Given the description of an element on the screen output the (x, y) to click on. 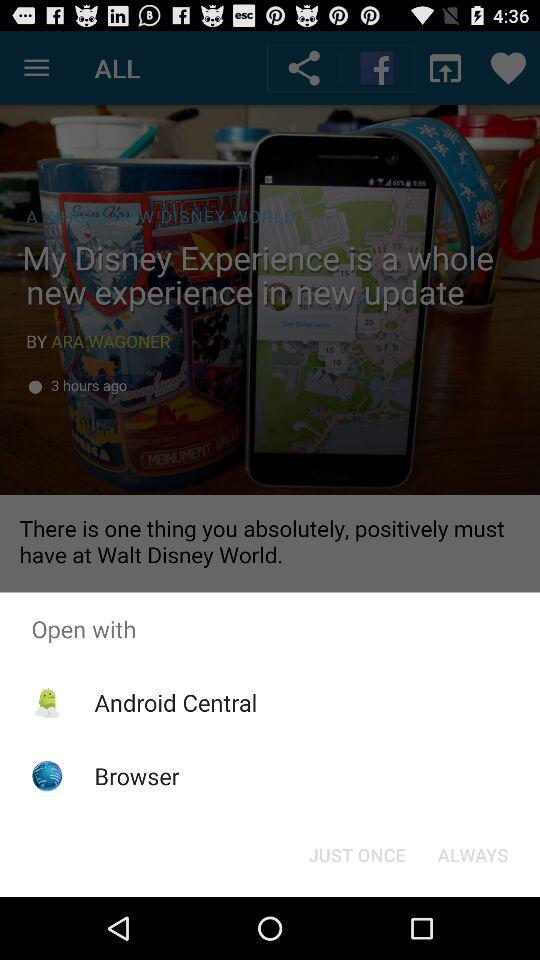
turn off the item below the open with item (175, 702)
